Given the description of an element on the screen output the (x, y) to click on. 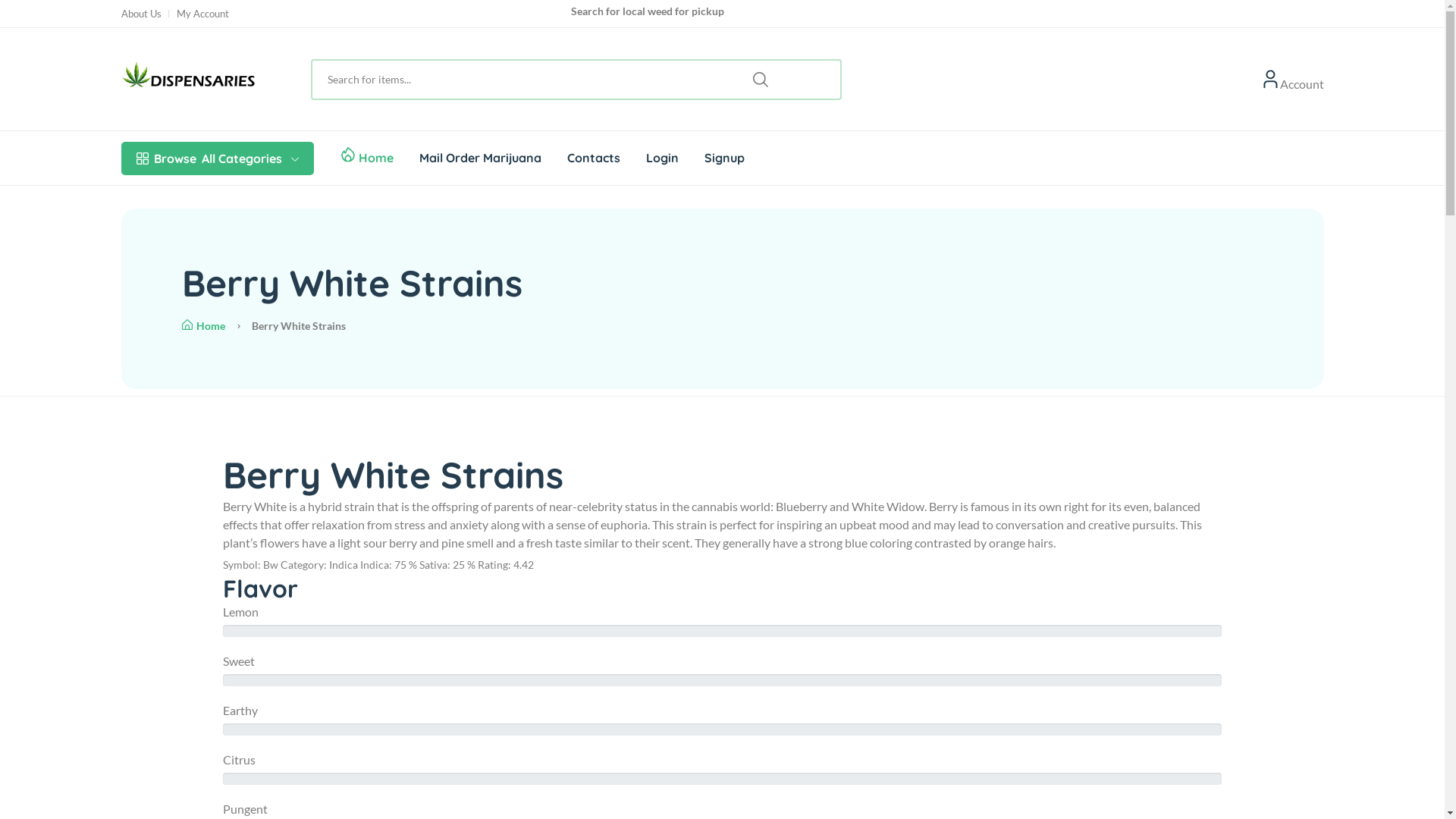
Home Element type: text (203, 325)
Account Element type: text (1302, 79)
About Us Element type: text (141, 13)
Mail Order Marijuana Element type: text (479, 157)
Login Element type: text (662, 157)
Home Element type: text (374, 157)
My Account Element type: text (201, 13)
Signup Element type: text (723, 157)
Contacts Element type: text (593, 157)
Browse
All Categories Element type: text (217, 158)
